Given the description of an element on the screen output the (x, y) to click on. 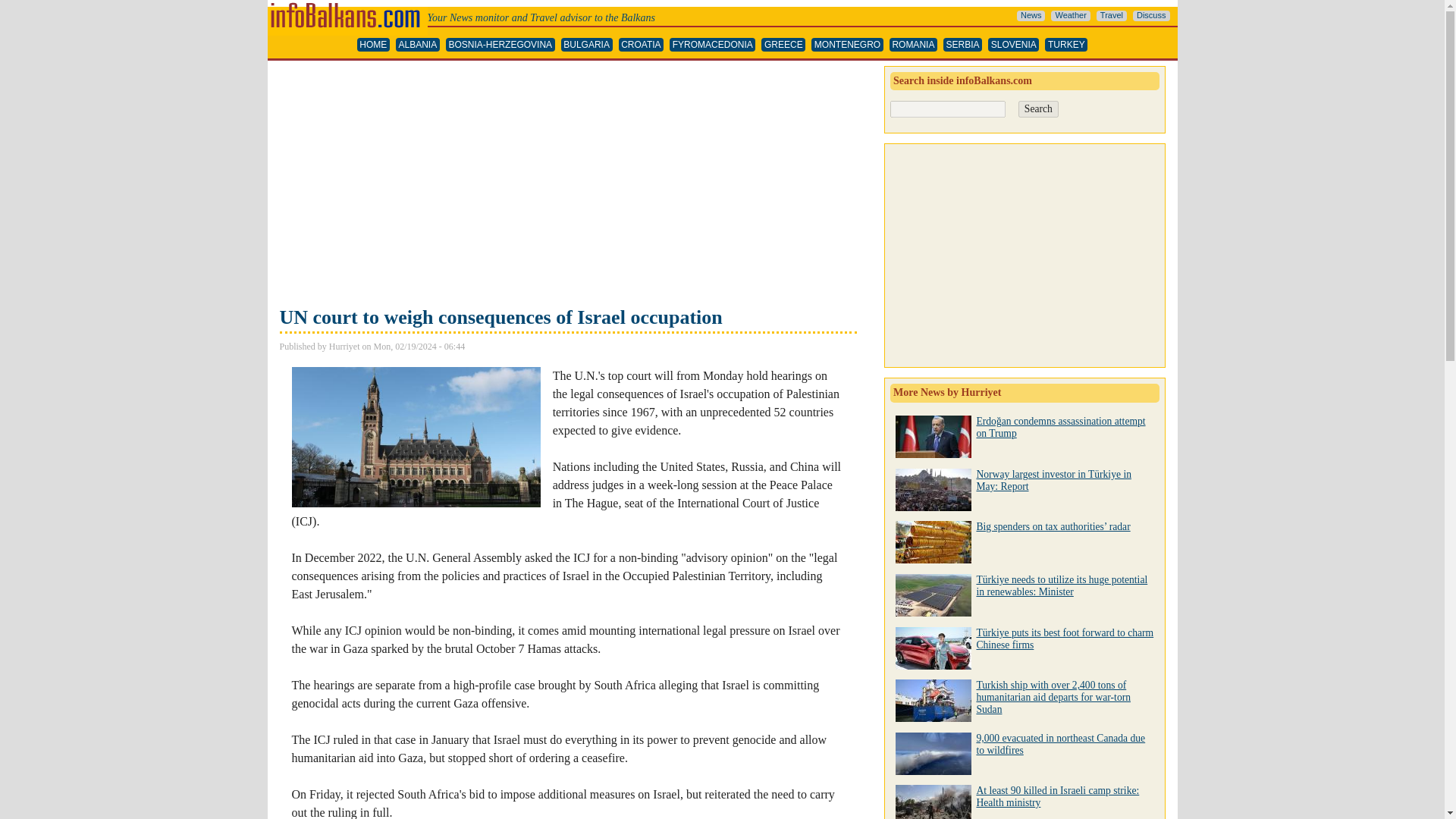
BOSNIA-HERZEGOVINA (499, 44)
FYROMACEDONIA (712, 44)
Enter the terms you wish to search for. (947, 108)
TURKEY (1066, 44)
Travel (1111, 15)
Advertisement (567, 184)
SLOVENIA (1013, 44)
MONTENEGRO (846, 44)
HOME (373, 44)
CROATIA (640, 44)
ALBANIA (417, 44)
SERBIA (962, 44)
Home (346, 6)
ROMANIA (913, 44)
